Given the description of an element on the screen output the (x, y) to click on. 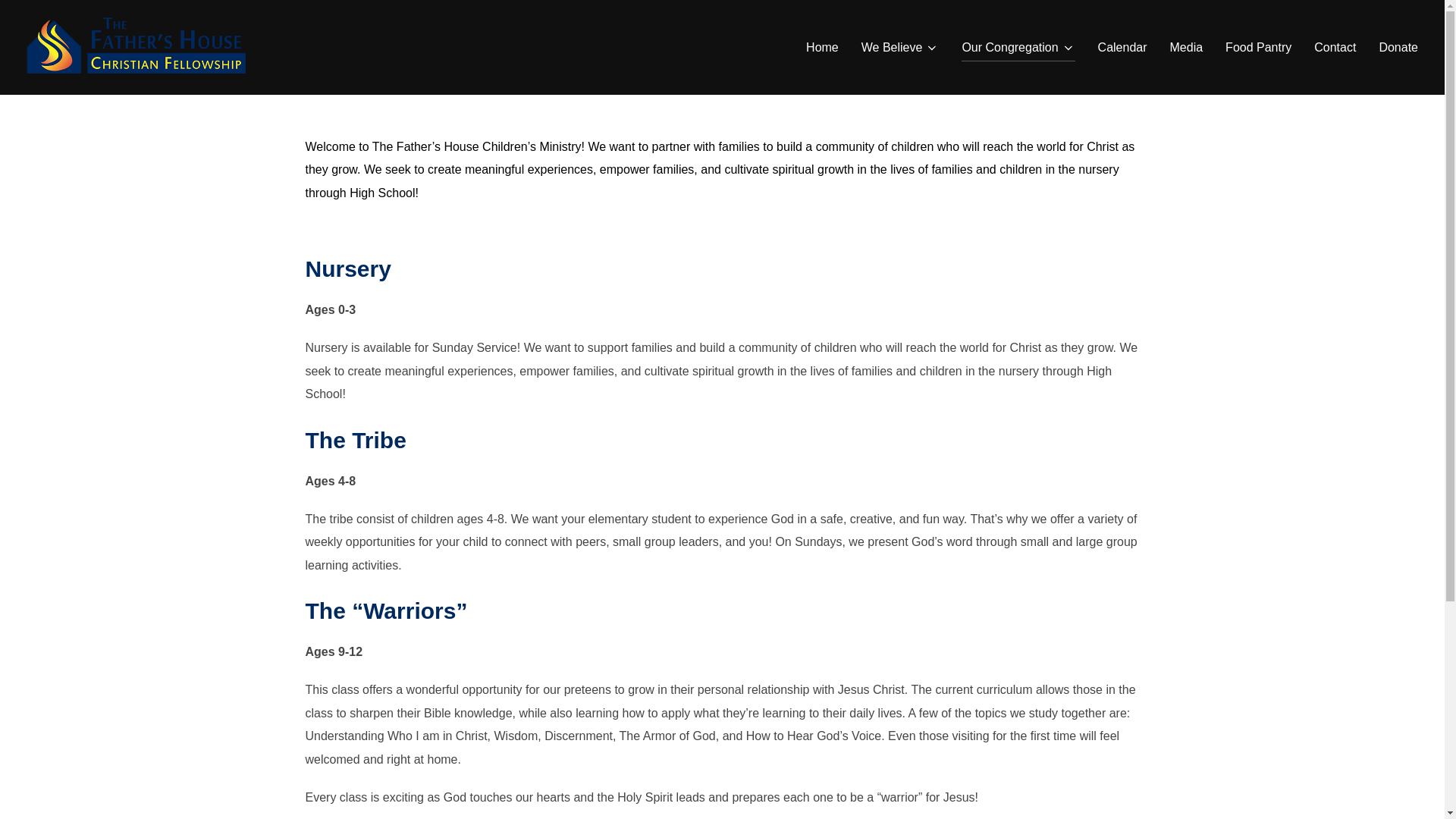
Contact (1334, 47)
We Believe (900, 47)
Home (822, 47)
Donate (1398, 47)
Food Pantry (1258, 47)
Calendar (1122, 47)
Our Congregation (1017, 47)
Media (1187, 47)
